Given the description of an element on the screen output the (x, y) to click on. 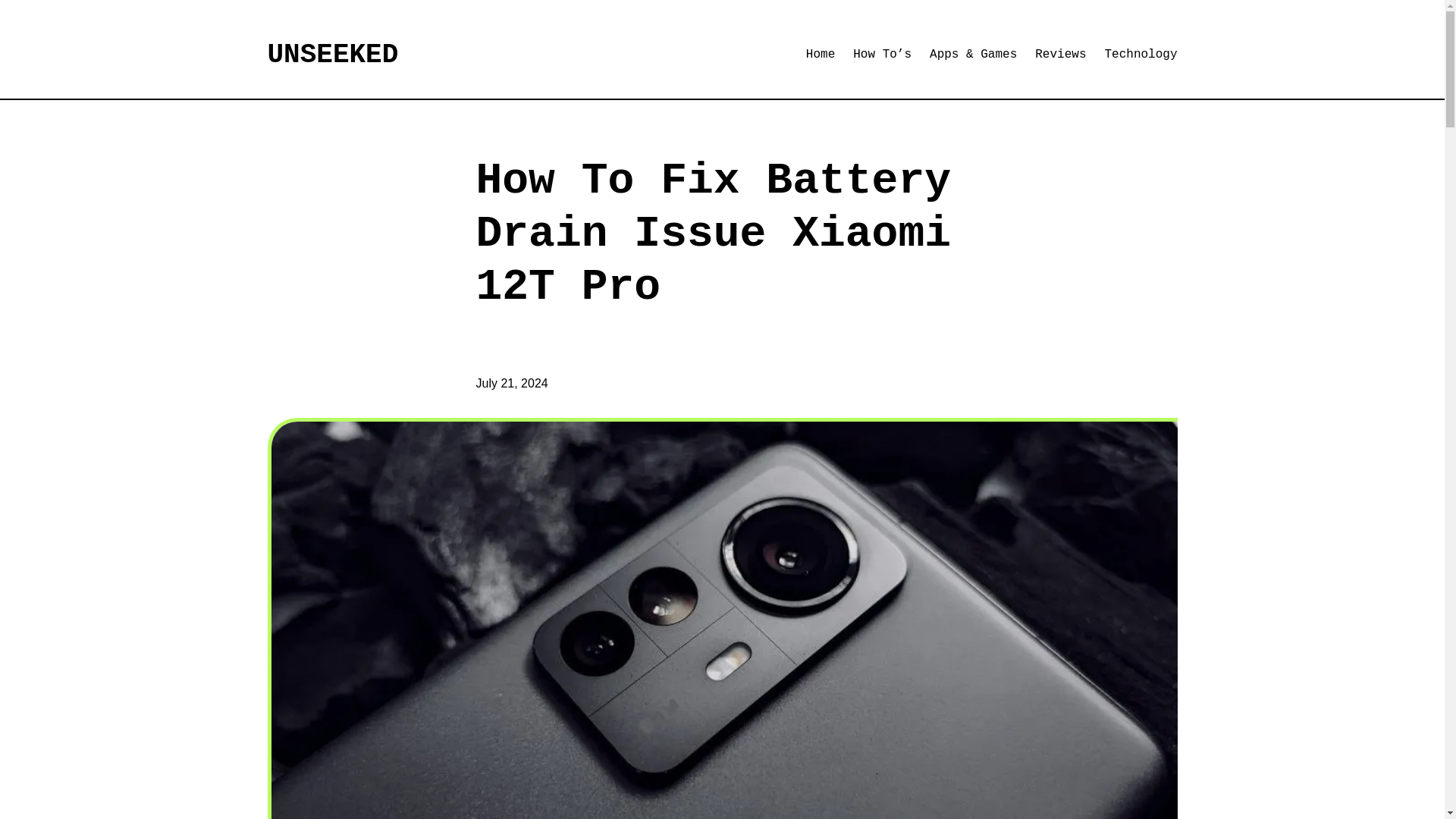
UNSEEKED (331, 54)
Technology (1139, 55)
Home (820, 55)
Reviews (1060, 55)
